Given the description of an element on the screen output the (x, y) to click on. 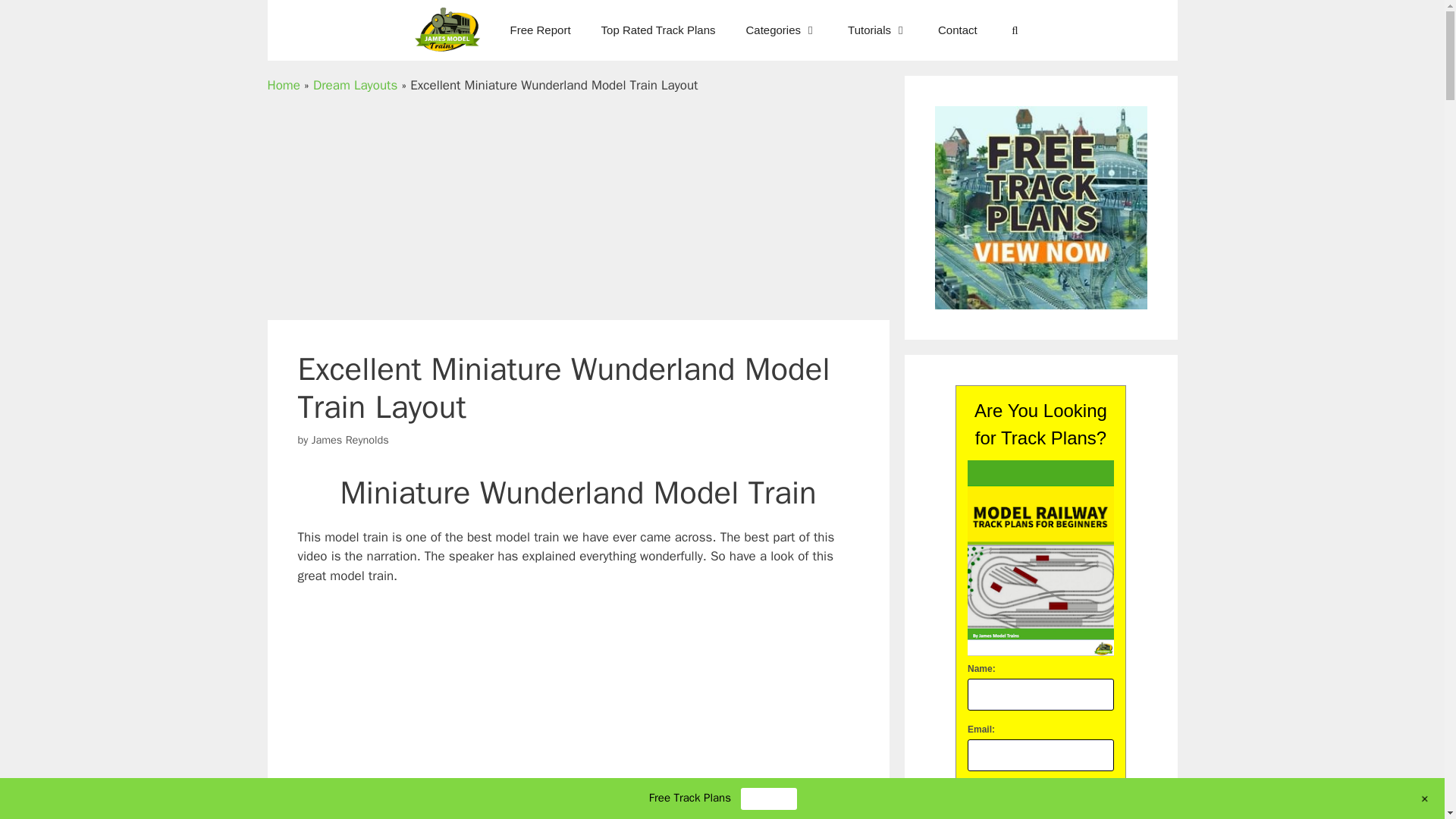
Categories (781, 30)
View all posts by James Reynolds (349, 438)
Download Now (1040, 801)
Dream Layouts (355, 84)
James Reynolds (349, 438)
Contact (957, 30)
Top Rated Track Plans (658, 30)
Model Train Books (447, 30)
Home (282, 84)
Advertisement (577, 207)
